Given the description of an element on the screen output the (x, y) to click on. 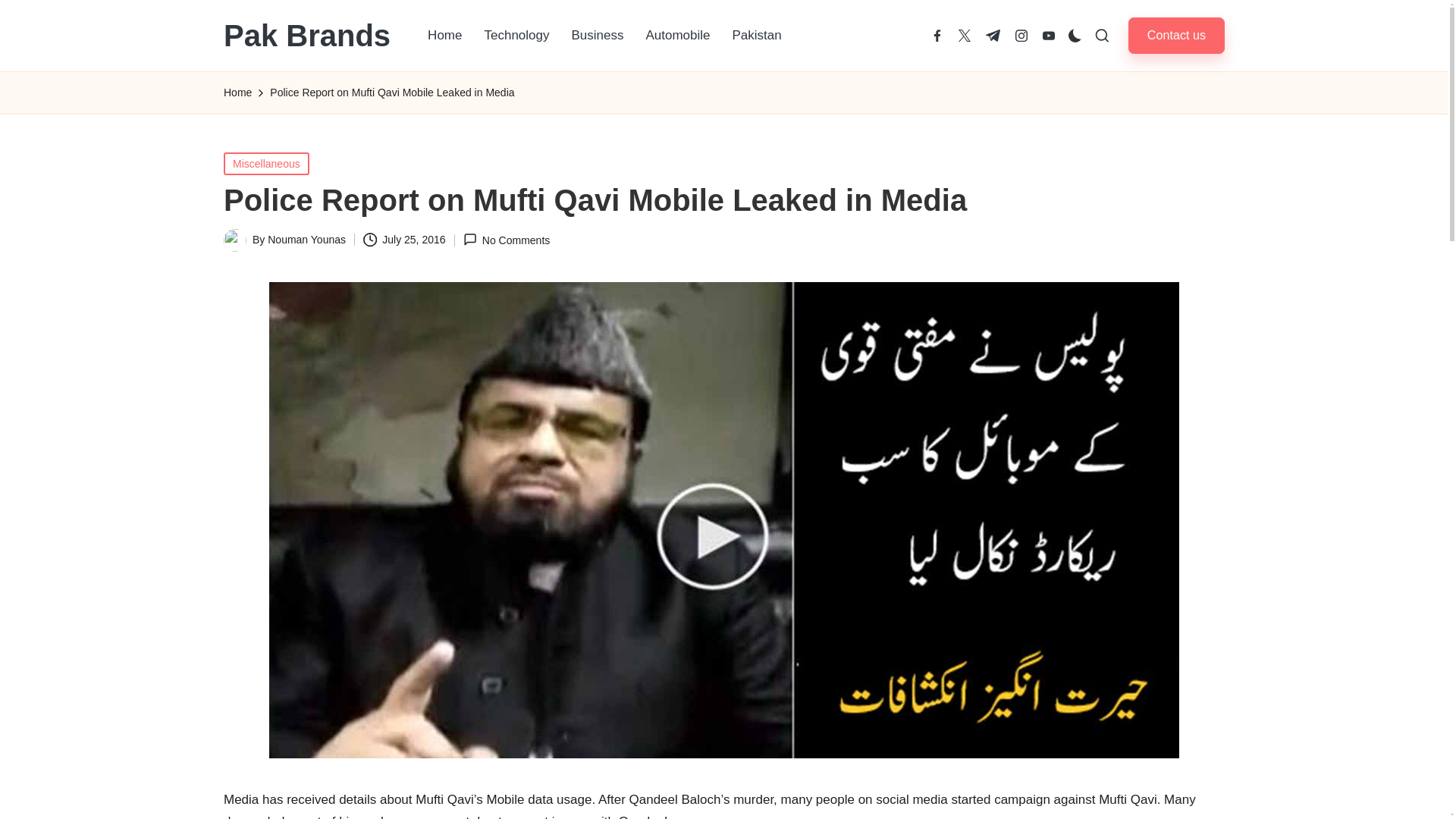
Technology (516, 35)
Automobile (677, 35)
View all posts by Nouman Younas (306, 239)
facebook.com (937, 35)
Pakistan (757, 35)
No Comments (506, 239)
Home (237, 92)
Miscellaneous (266, 162)
twitter.com (964, 35)
Pak Brands (307, 35)
